Given the description of an element on the screen output the (x, y) to click on. 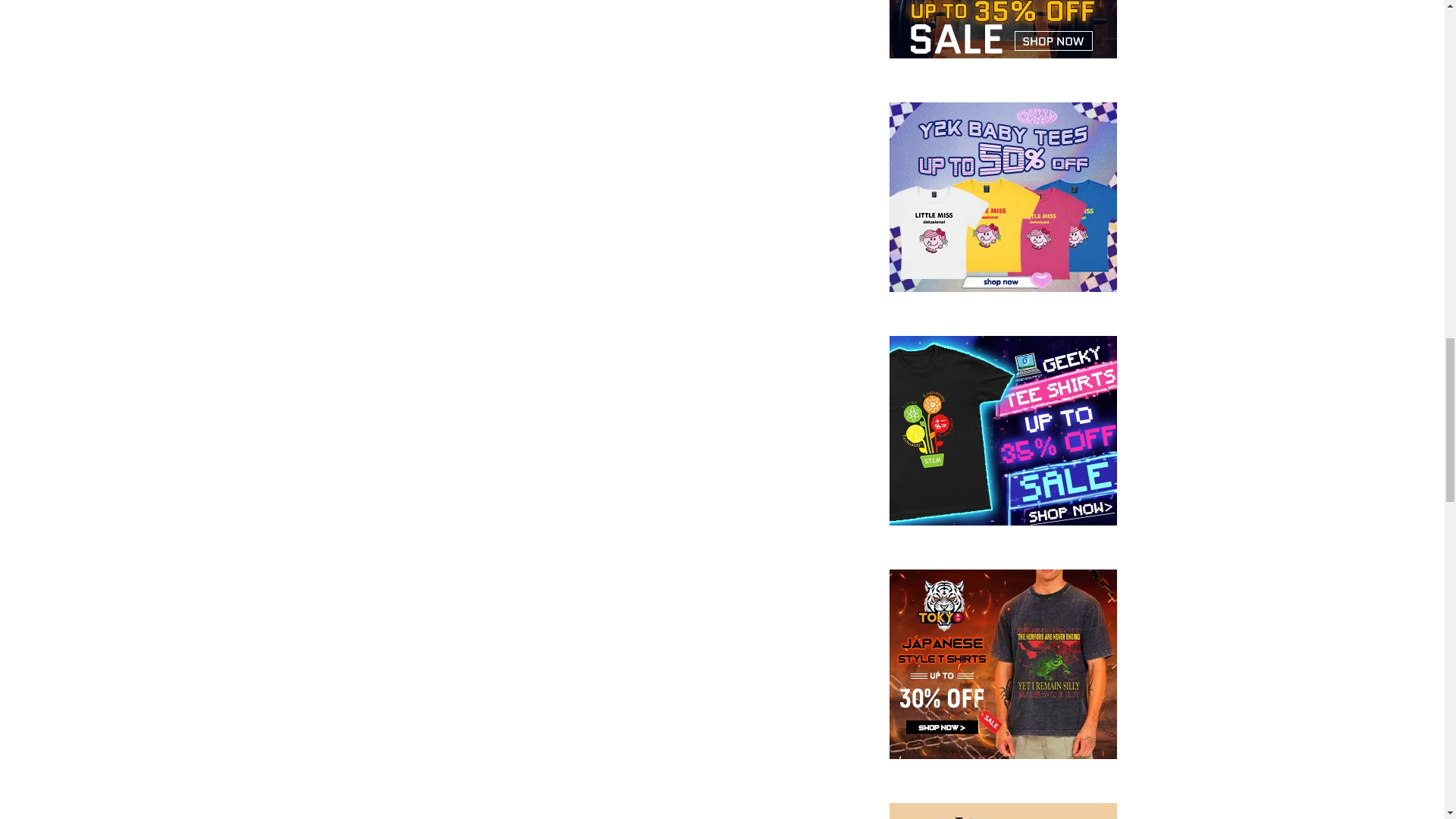
baby tees (1002, 287)
geek t shirt (1002, 521)
gym shirts (1002, 53)
Japanese t shirts (1002, 754)
